Given the description of an element on the screen output the (x, y) to click on. 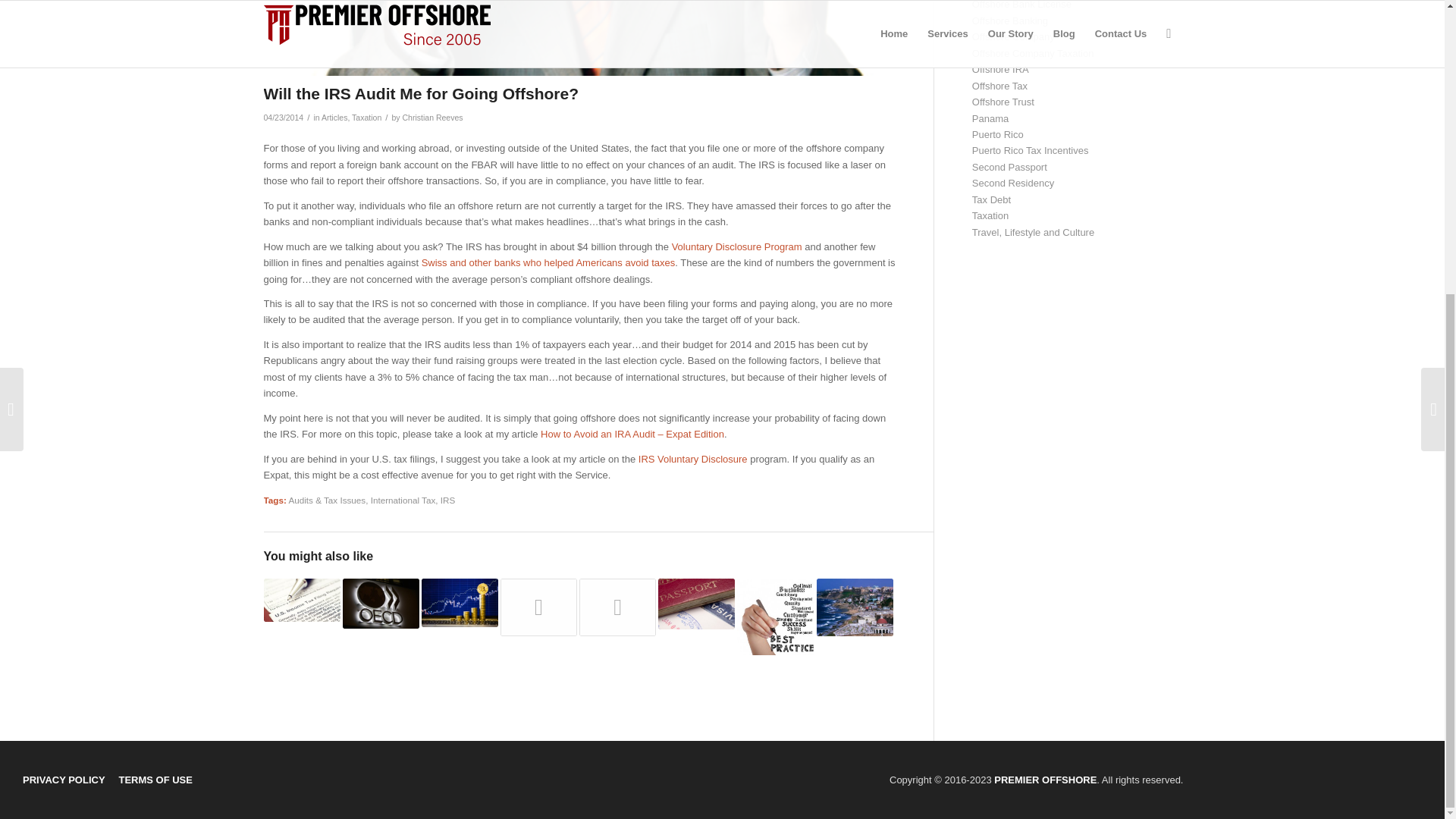
International Tax (403, 500)
Foreign Earned Income Exclusion 2020 (301, 599)
Swiss and other banks who helped Americans avoid taxes (548, 262)
2012 IRS Offshore Compliance Program (617, 607)
Posts by Christian Reeves (433, 117)
IRS Tax Liens (538, 607)
IRS Voluntary Disclosure (693, 459)
How to Avoid an Audit (631, 433)
IRS Offshore Voluntary Disclosure Program (693, 459)
How to Trade Bitcoin Tax Free (459, 602)
